Given the description of an element on the screen output the (x, y) to click on. 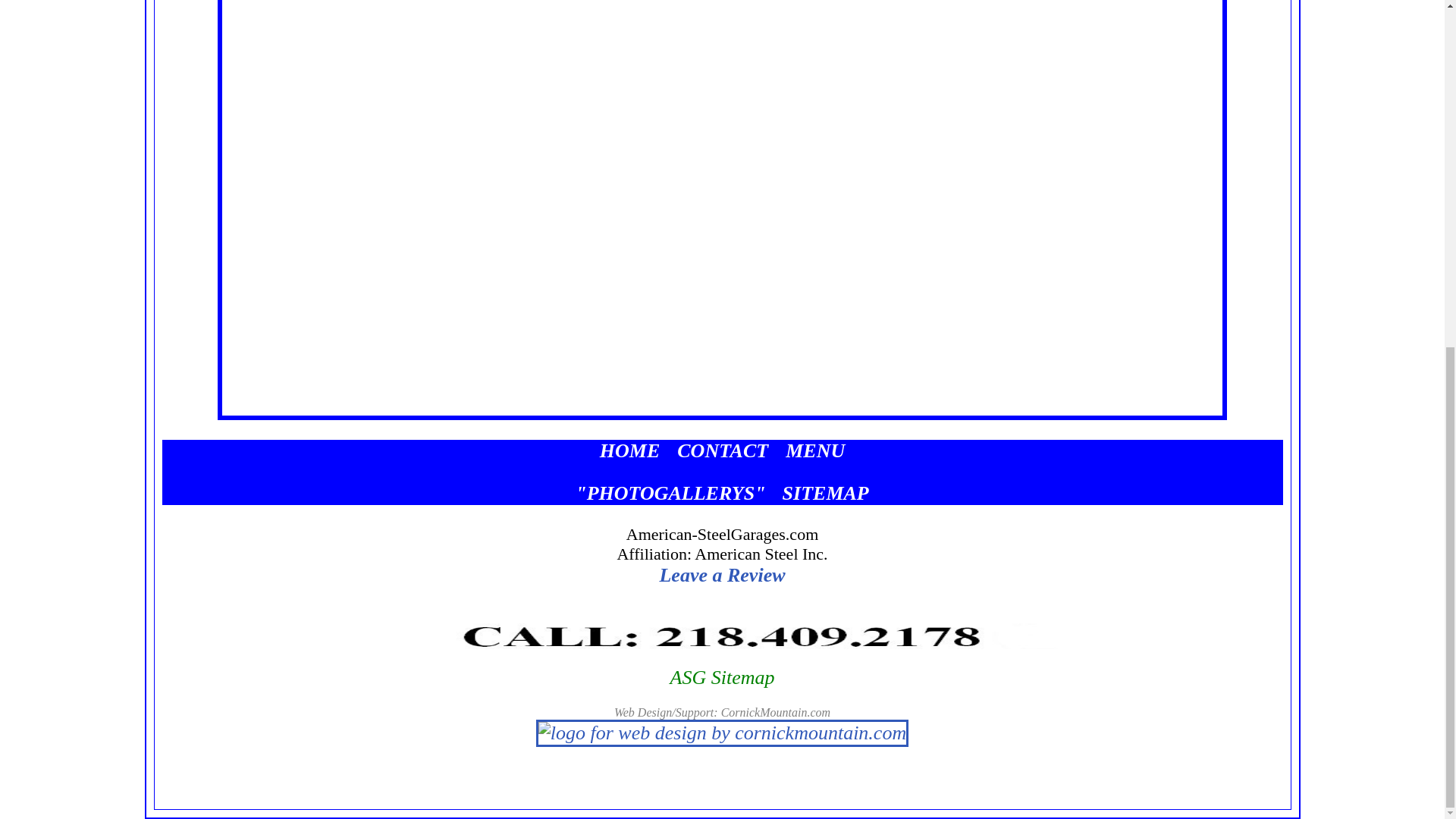
ASG Sitemap (721, 677)
MENU (815, 450)
"PHOTOGALLERYS" (670, 493)
CONTACT (725, 450)
SITEMAP (826, 493)
HOME (632, 450)
Leave a Review (721, 575)
